Given the description of an element on the screen output the (x, y) to click on. 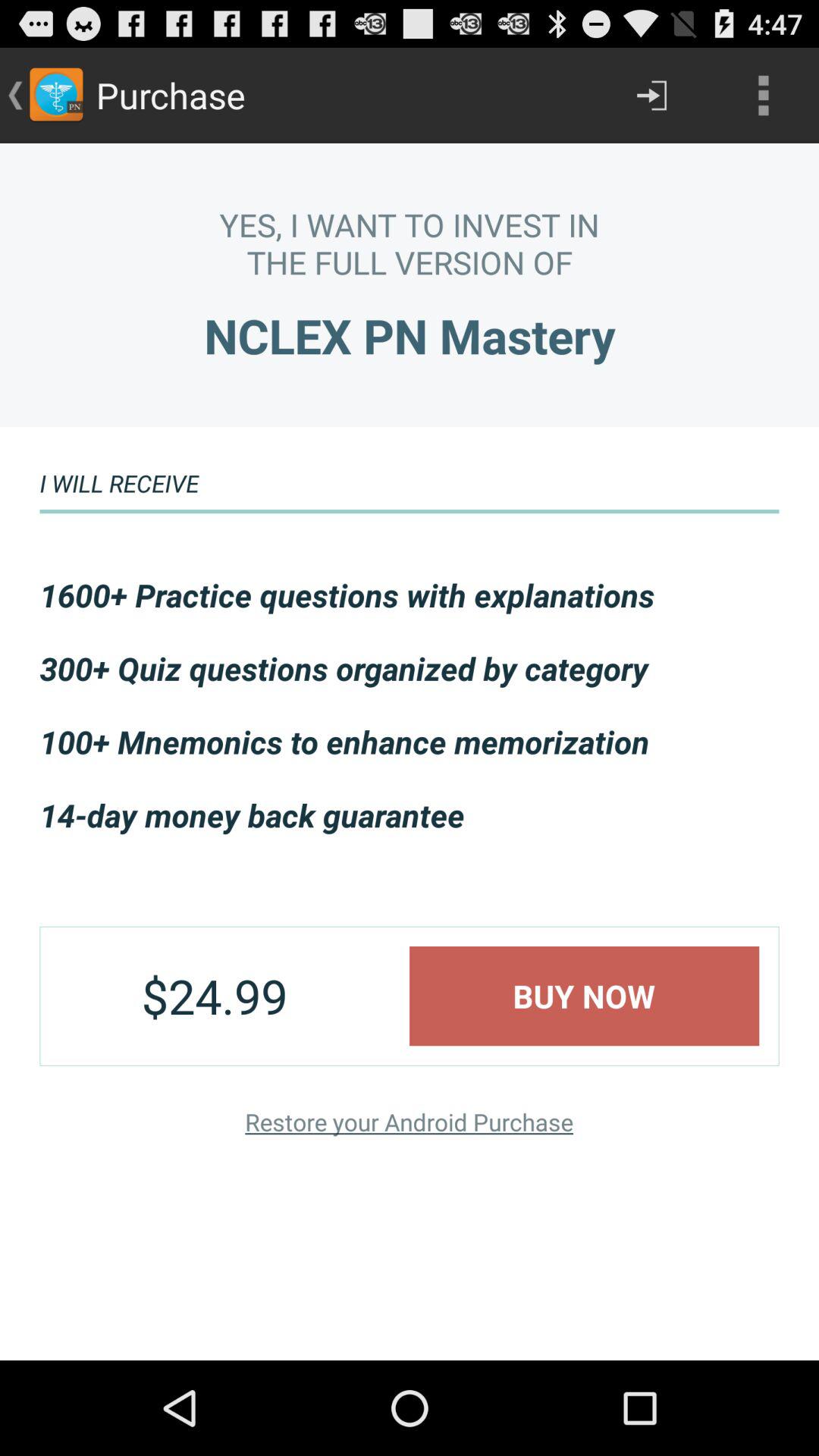
open icon below the 14 day money (584, 995)
